Given the description of an element on the screen output the (x, y) to click on. 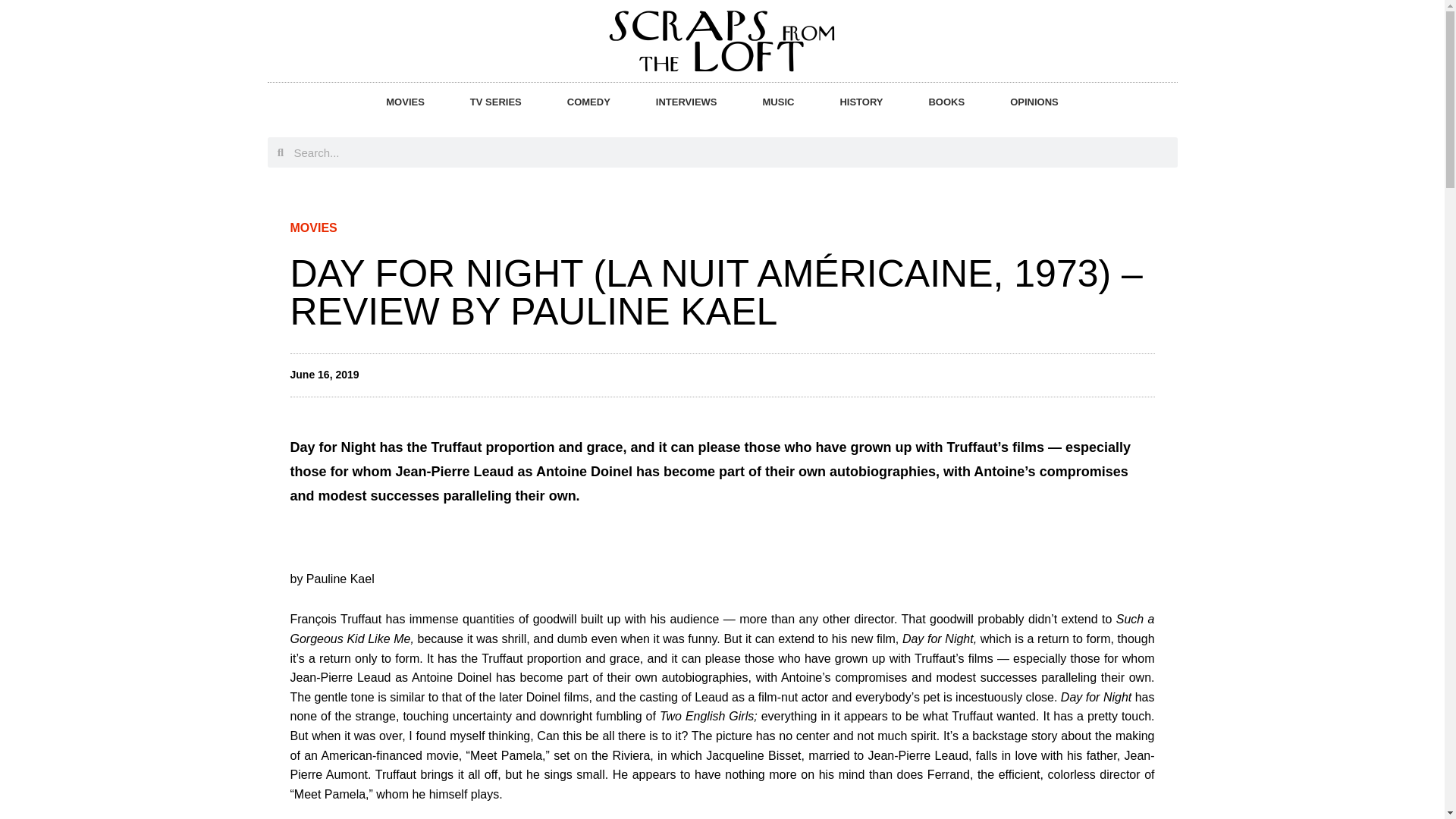
BOOKS (946, 102)
TV SERIES (495, 102)
MOVIES (404, 102)
COMEDY (588, 102)
OPINIONS (1034, 102)
INTERVIEWS (686, 102)
MUSIC (777, 102)
HISTORY (860, 102)
